Given the description of an element on the screen output the (x, y) to click on. 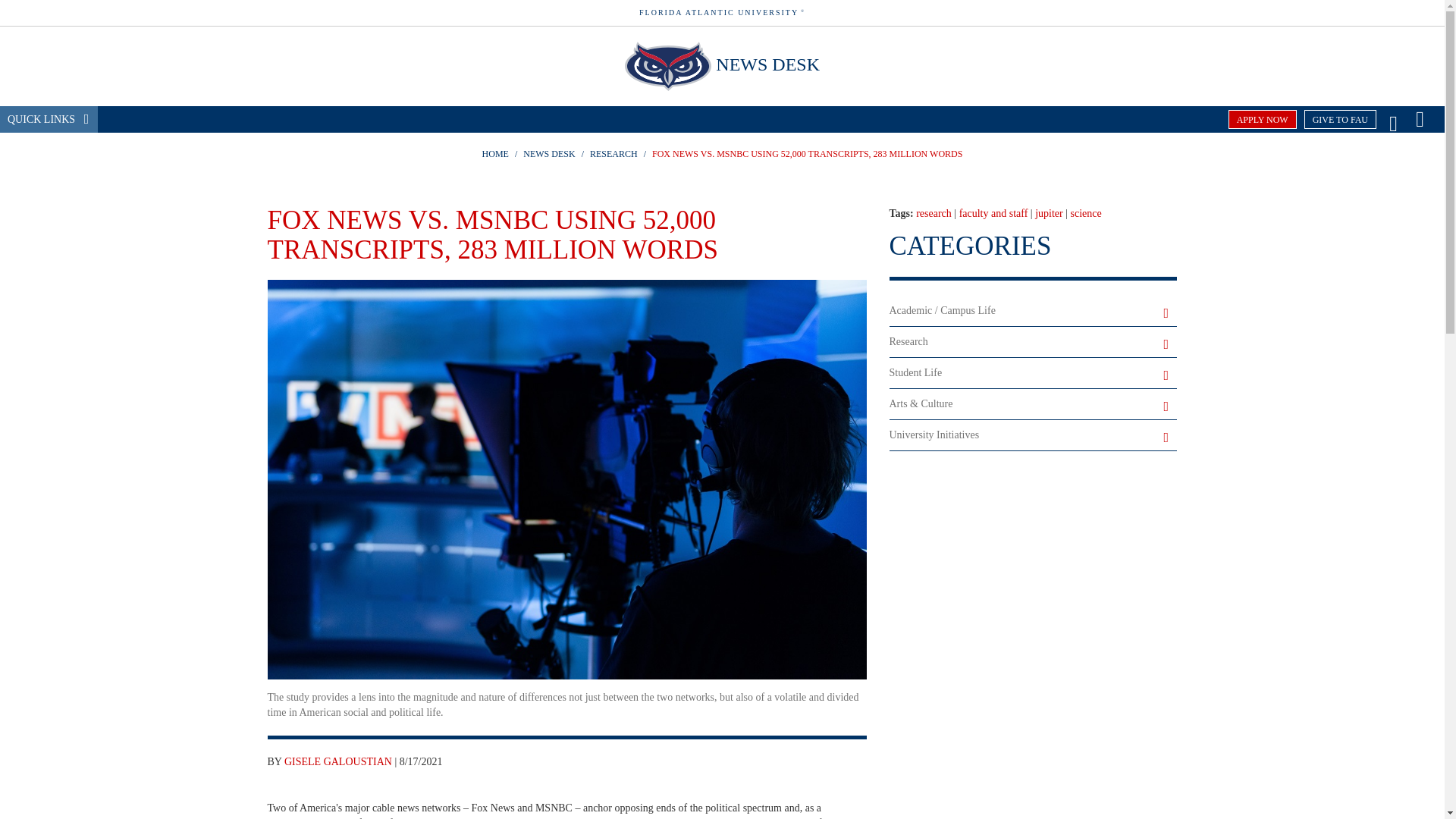
Search (1393, 117)
NEWS DESK (767, 64)
APPLY NOW (1262, 118)
GIVE TO FAU (1339, 118)
Navigation (1419, 117)
QUICK LINKS (48, 119)
